Given the description of an element on the screen output the (x, y) to click on. 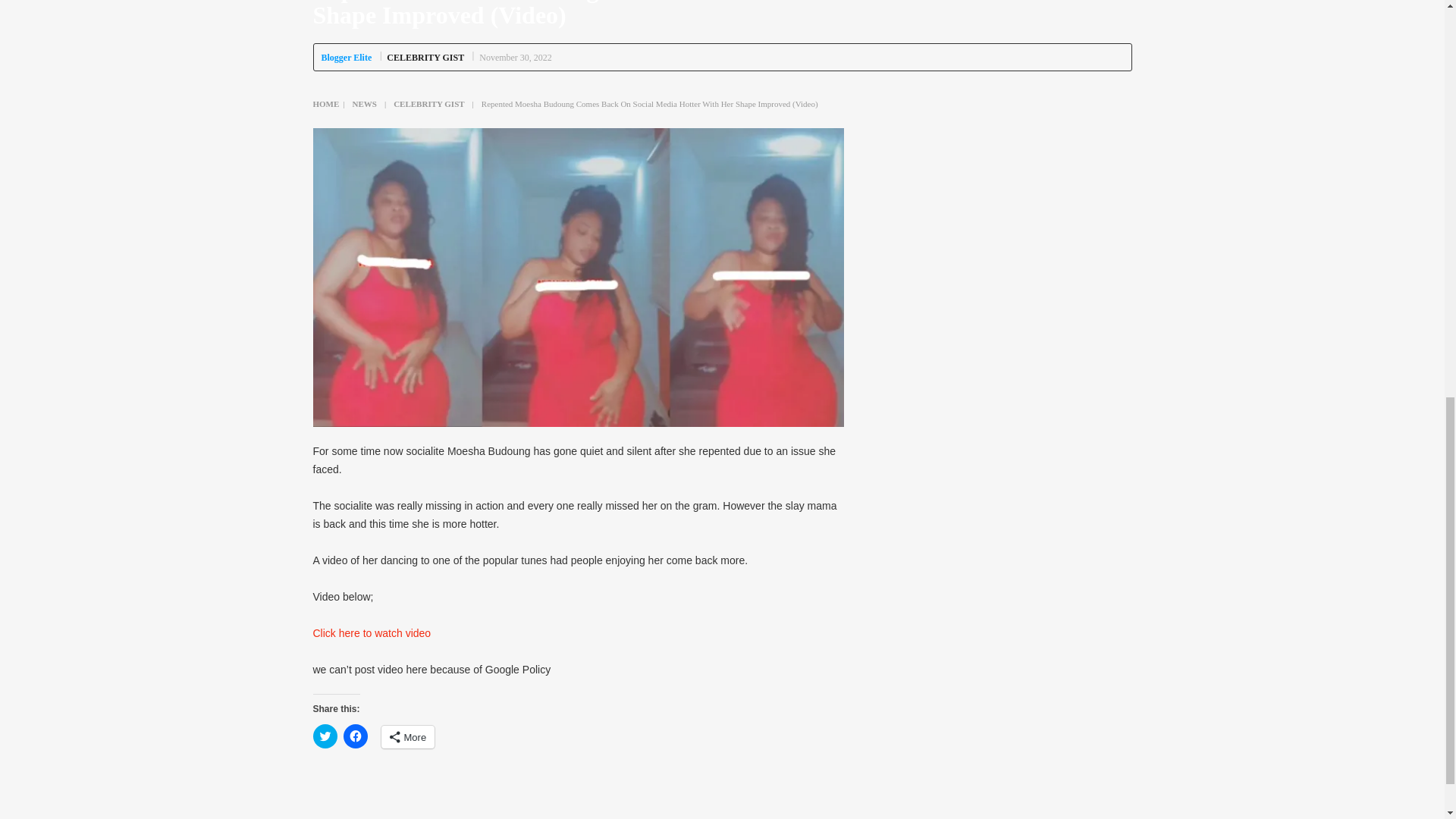
CELEBRITY GIST (425, 57)
Click to share on Facebook (354, 735)
View all posts in CELEBRITY GIST (425, 57)
Blogger Elite (346, 57)
HOME (326, 103)
Click to share on Twitter (324, 735)
NEWS (364, 103)
Posts by Blogger Elite (346, 57)
